Given the description of an element on the screen output the (x, y) to click on. 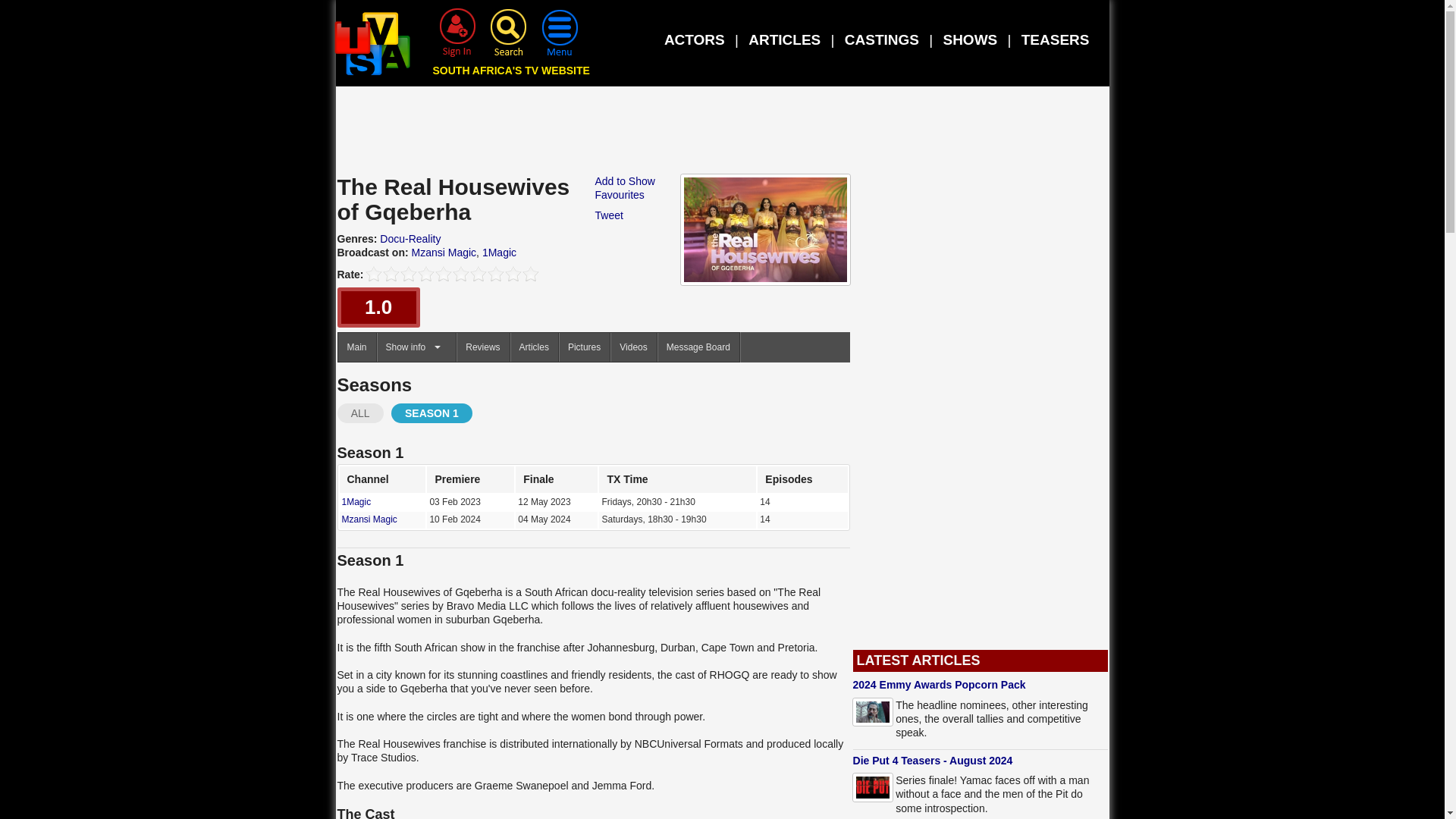
TEASERS (1055, 39)
CASTINGS (881, 39)
ACTORS (694, 39)
Advertisement (722, 133)
SHOWS (969, 39)
ARTICLES (784, 39)
